Given the description of an element on the screen output the (x, y) to click on. 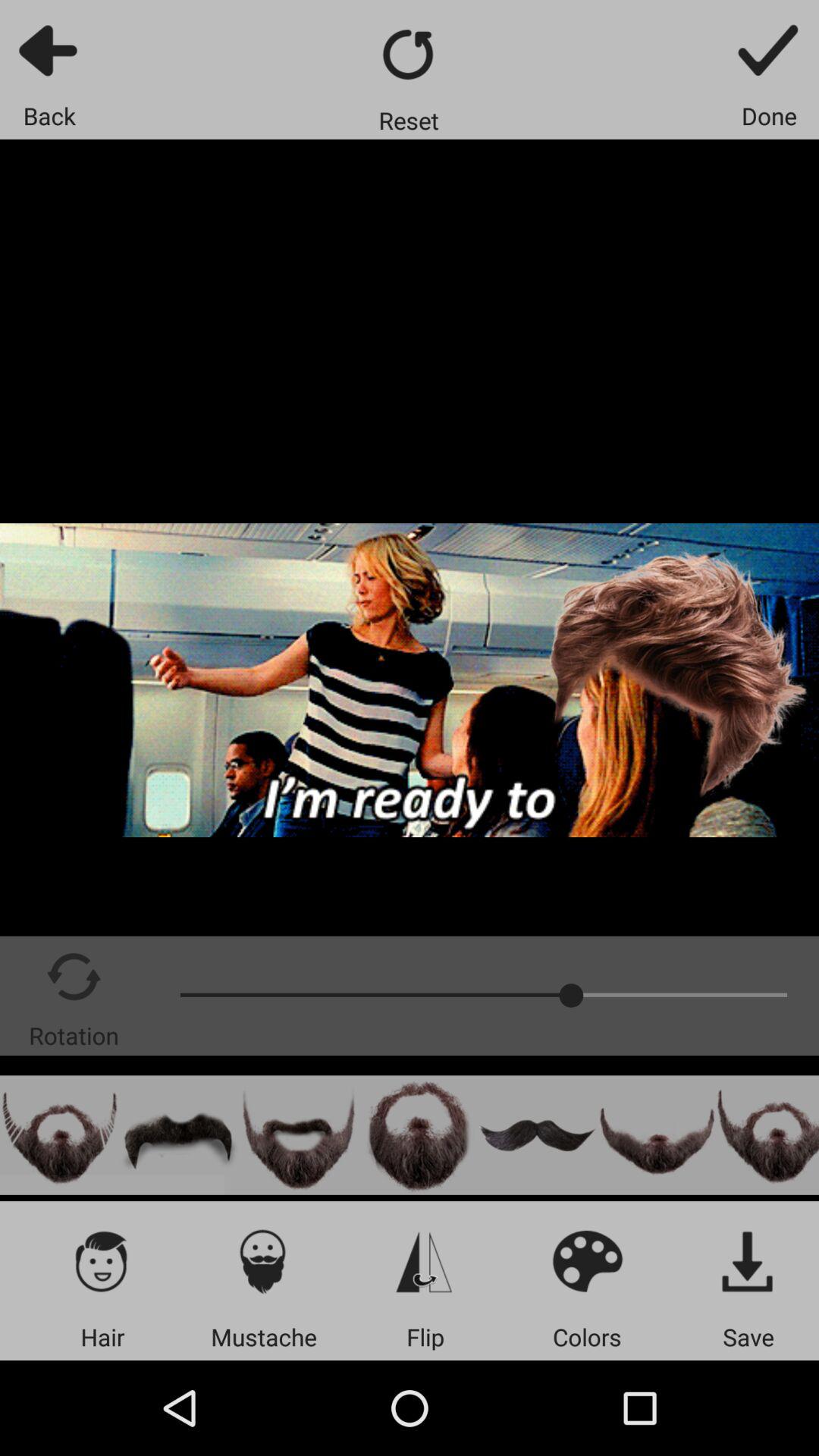
choose color (586, 1260)
